Given the description of an element on the screen output the (x, y) to click on. 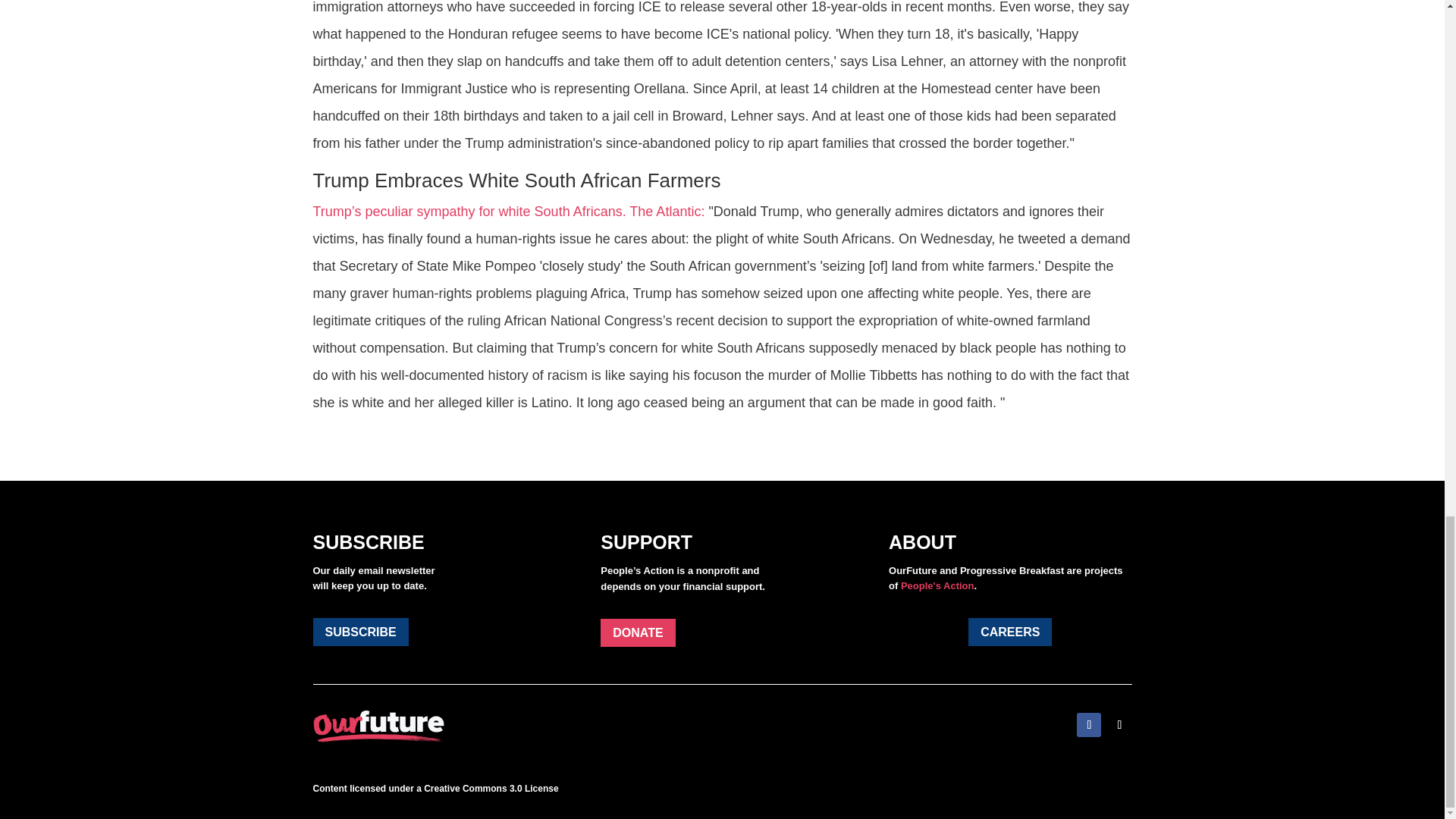
Follow on X (1118, 724)
People's Action (937, 585)
SUBSCRIBE (360, 632)
DONATE (637, 633)
Follow on Facebook (1088, 724)
CAREERS (1009, 632)
